Given the description of an element on the screen output the (x, y) to click on. 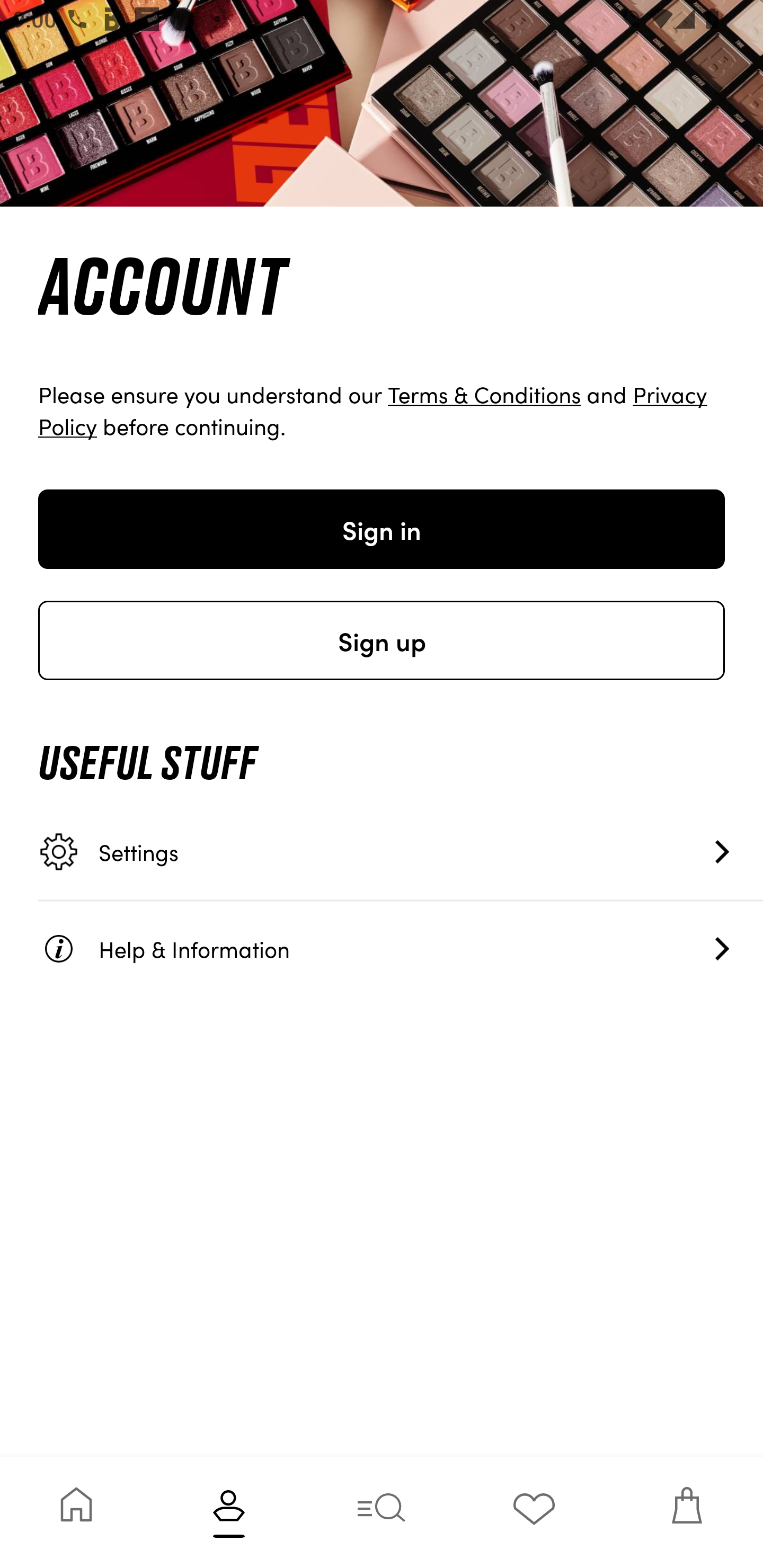
Sign in (381, 529)
Sign up (381, 640)
Settings (400, 852)
Help & Information (400, 948)
